Given the description of an element on the screen output the (x, y) to click on. 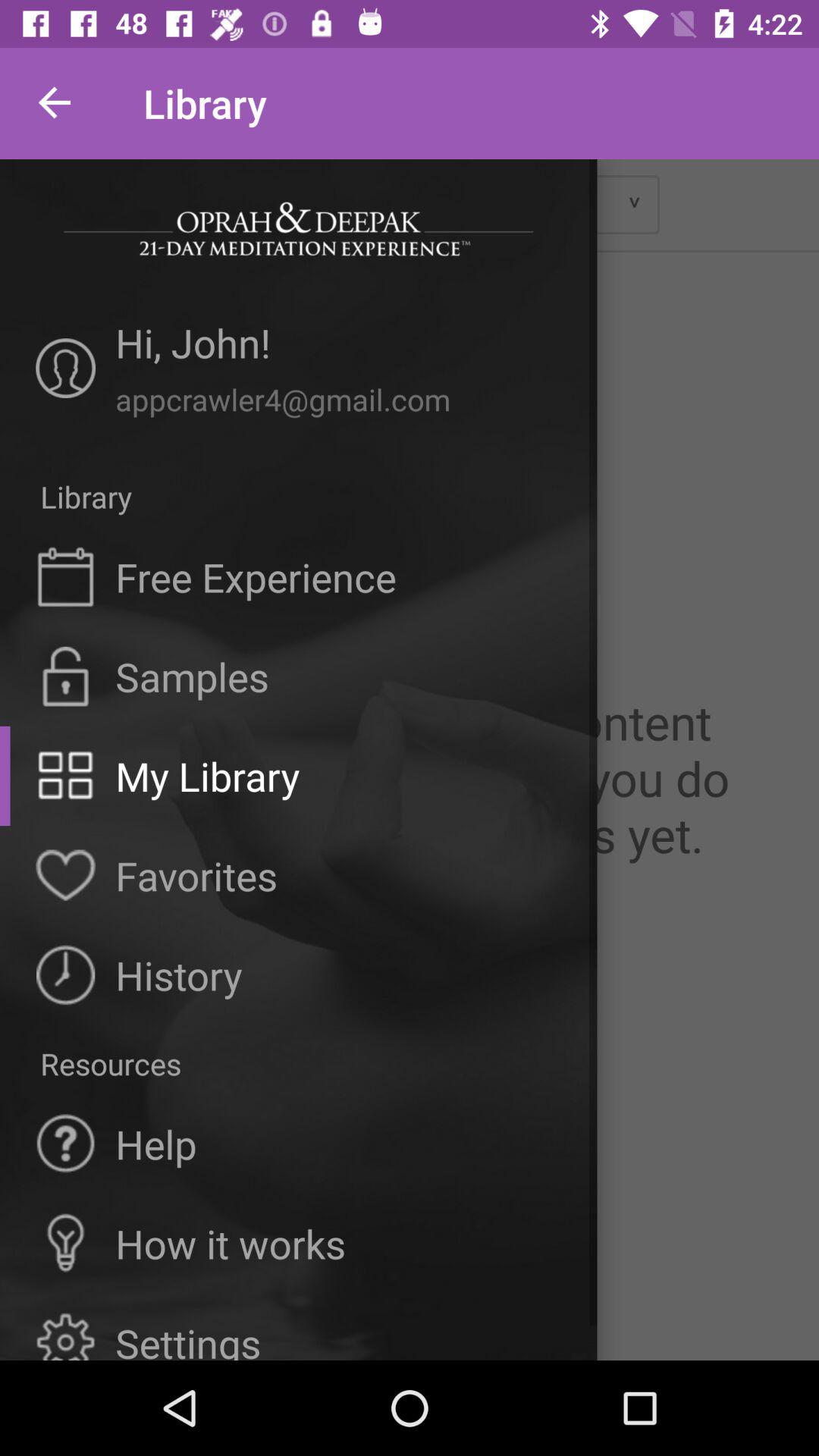
choose settings (188, 1338)
